Given the description of an element on the screen output the (x, y) to click on. 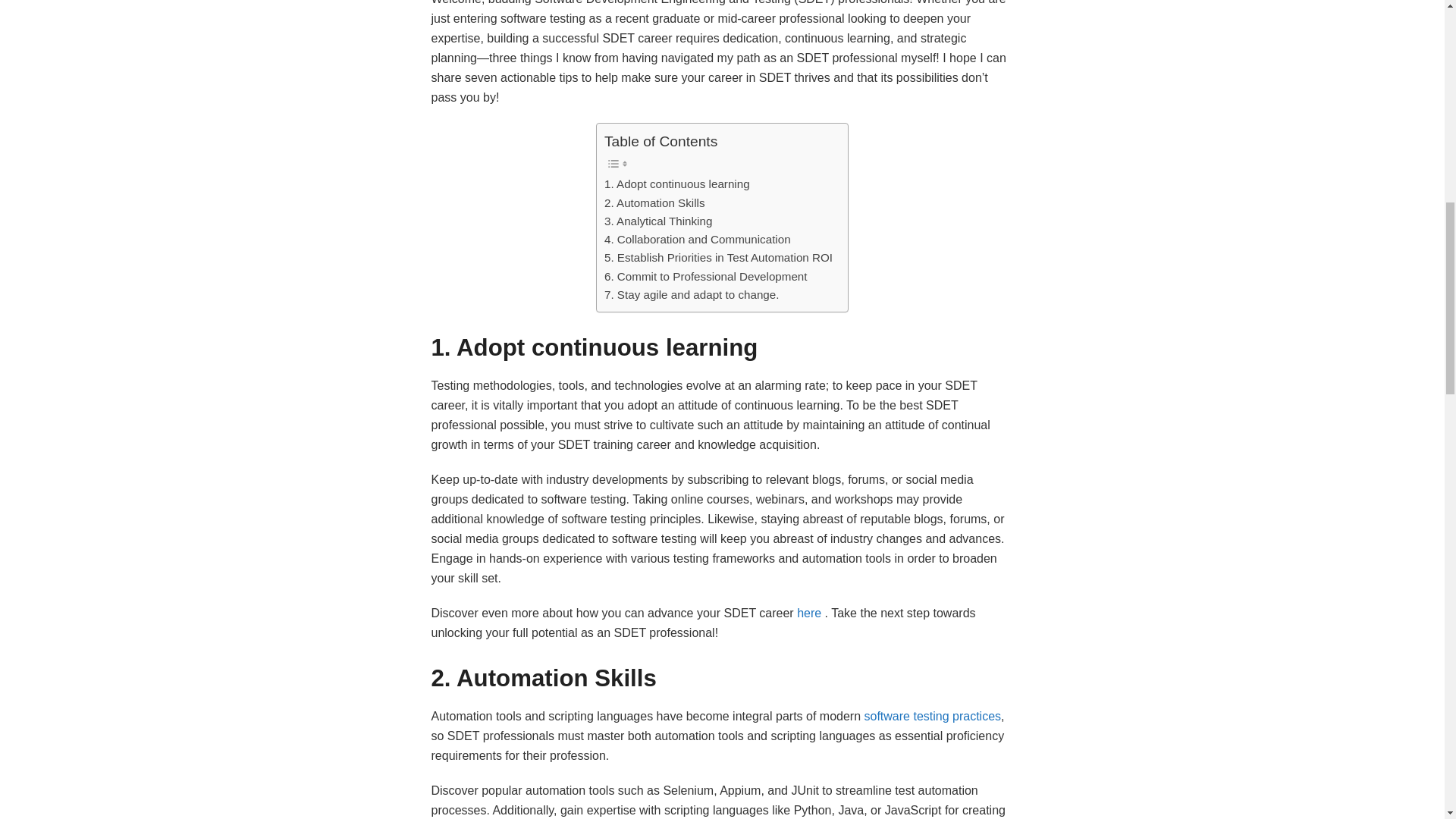
1. Adopt continuous learning (676, 184)
5. Establish Priorities in Test Automation ROI (718, 257)
6. Commit to Professional Development (706, 276)
1. Adopt continuous learning (676, 184)
3. Analytical Thinking (657, 221)
2. Automation Skills (654, 203)
7. Stay agile and adapt to change. (691, 294)
4. Collaboration and Communication (697, 239)
